Given the description of an element on the screen output the (x, y) to click on. 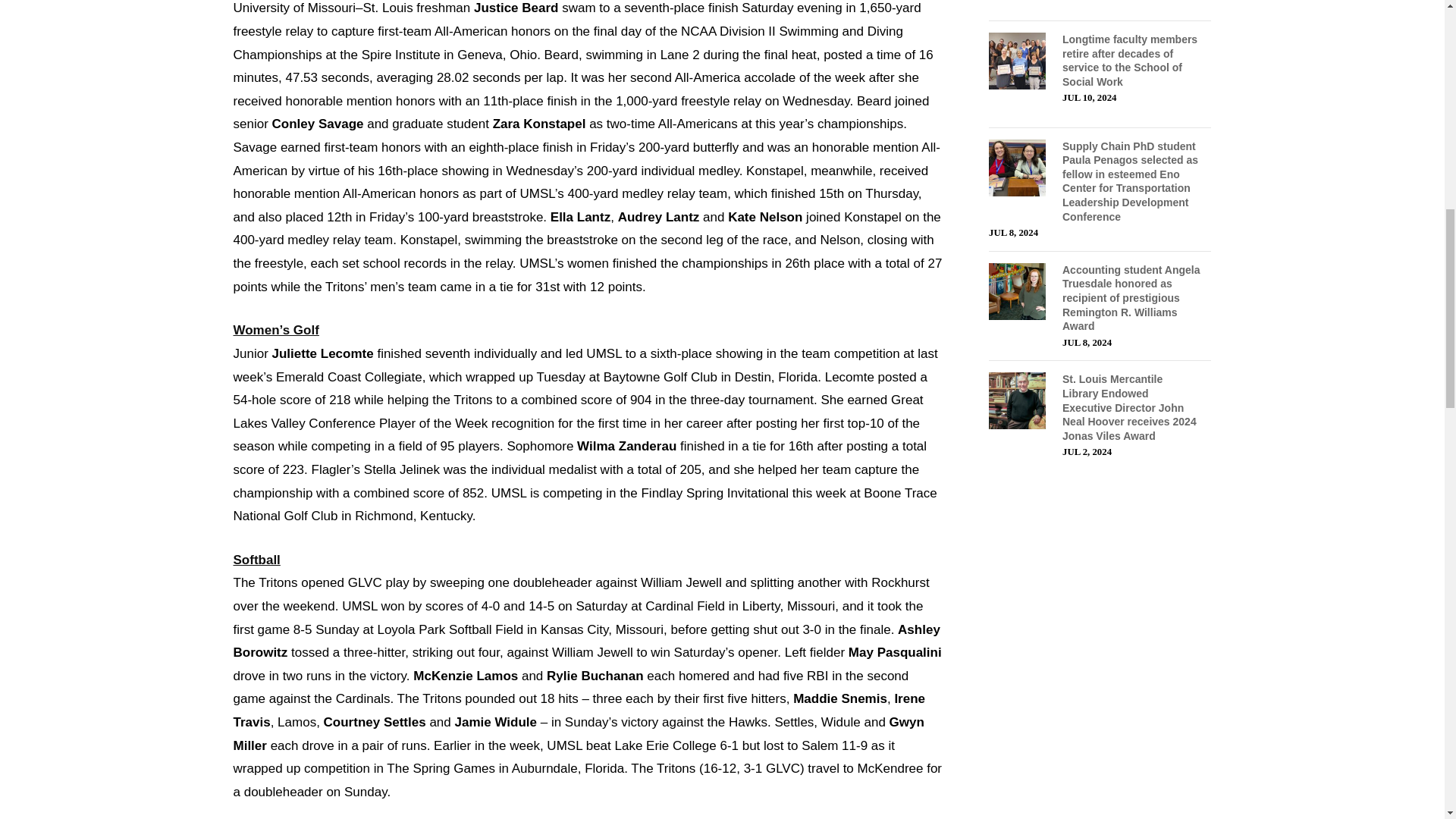
Softball (256, 559)
